Given the description of an element on the screen output the (x, y) to click on. 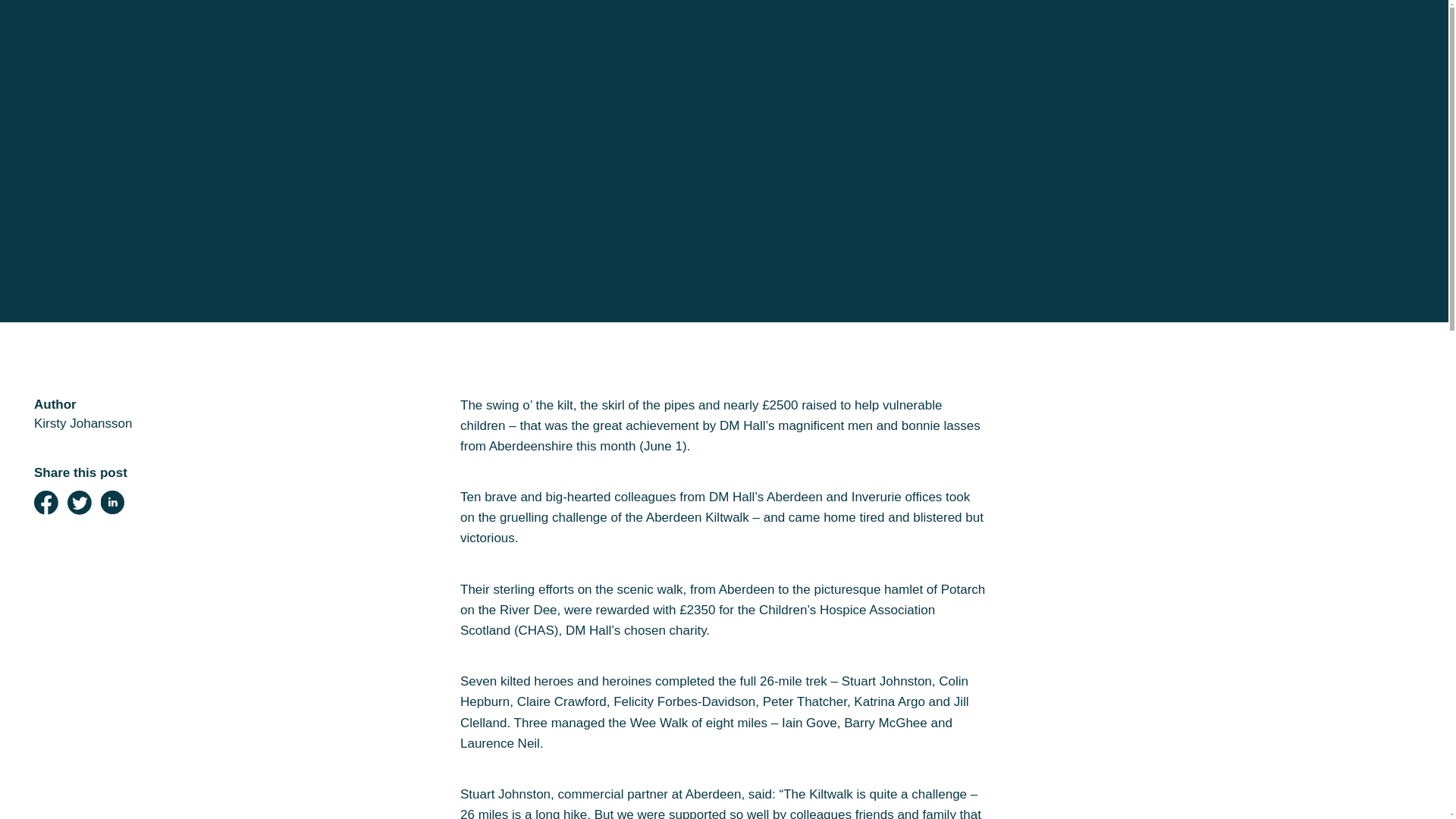
Contact (82, 538)
Residential Property Services (202, 156)
Commercial (105, 198)
Property Management (162, 368)
Building Consultancy (155, 326)
Make a Payment (133, 453)
Rural Services (120, 283)
About (71, 411)
